Given the description of an element on the screen output the (x, y) to click on. 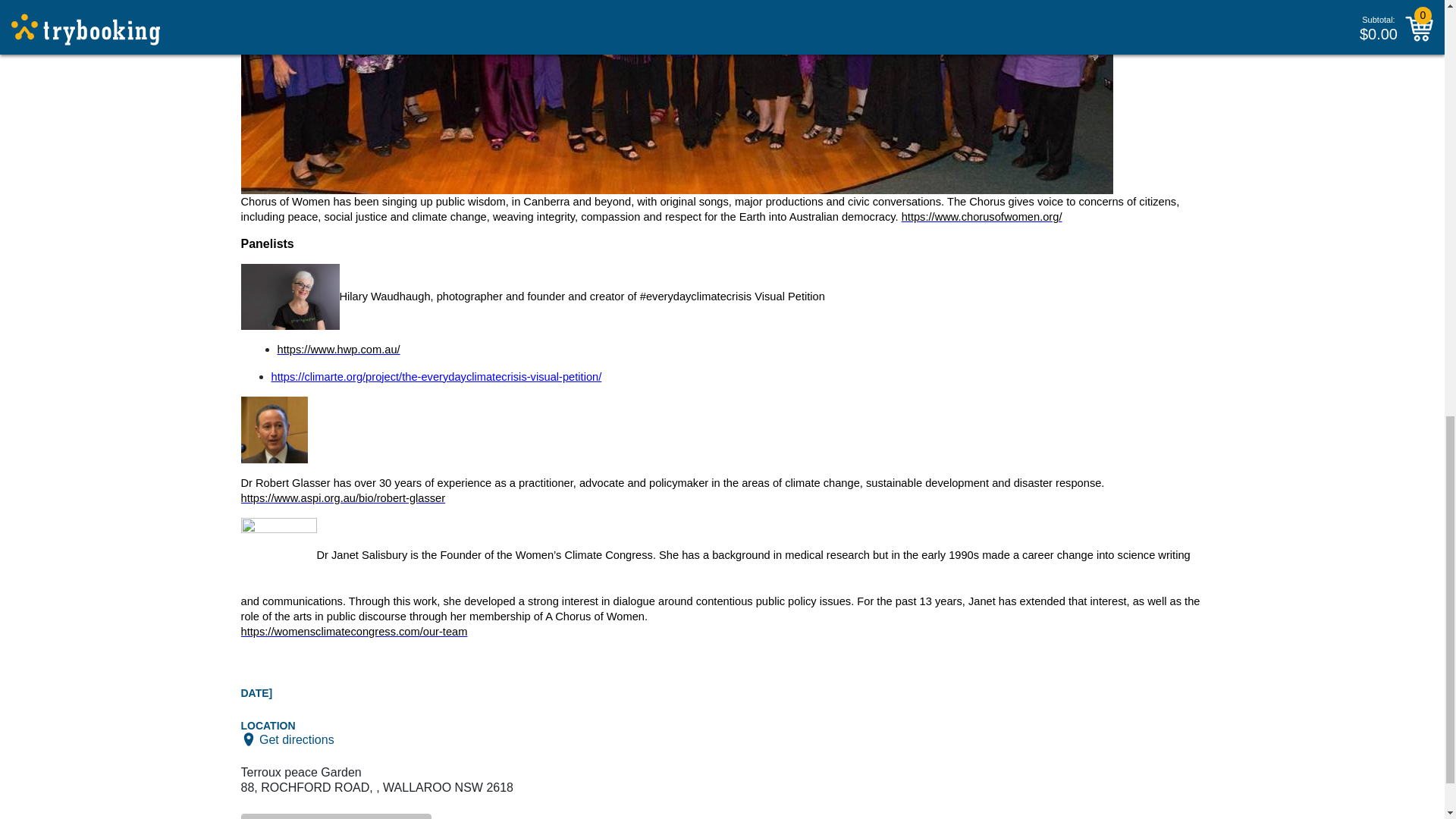
Get directions (296, 738)
